Given the description of an element on the screen output the (x, y) to click on. 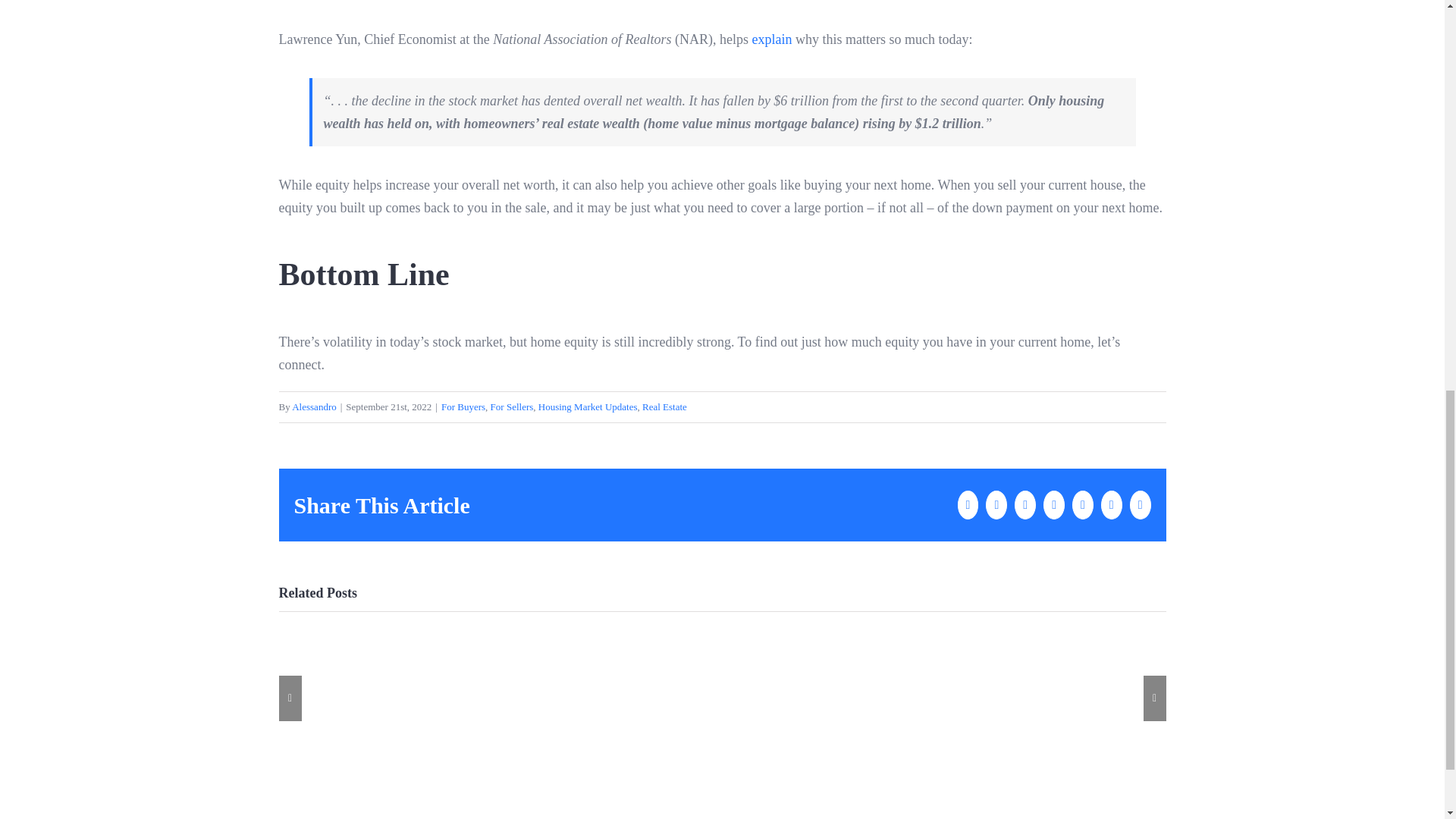
For Sellers (512, 406)
explain (771, 38)
Housing Market Updates (587, 406)
For Buyers (462, 406)
Alessandro (314, 406)
Posts by Alessandro (314, 406)
Real Estate (664, 406)
